Given the description of an element on the screen output the (x, y) to click on. 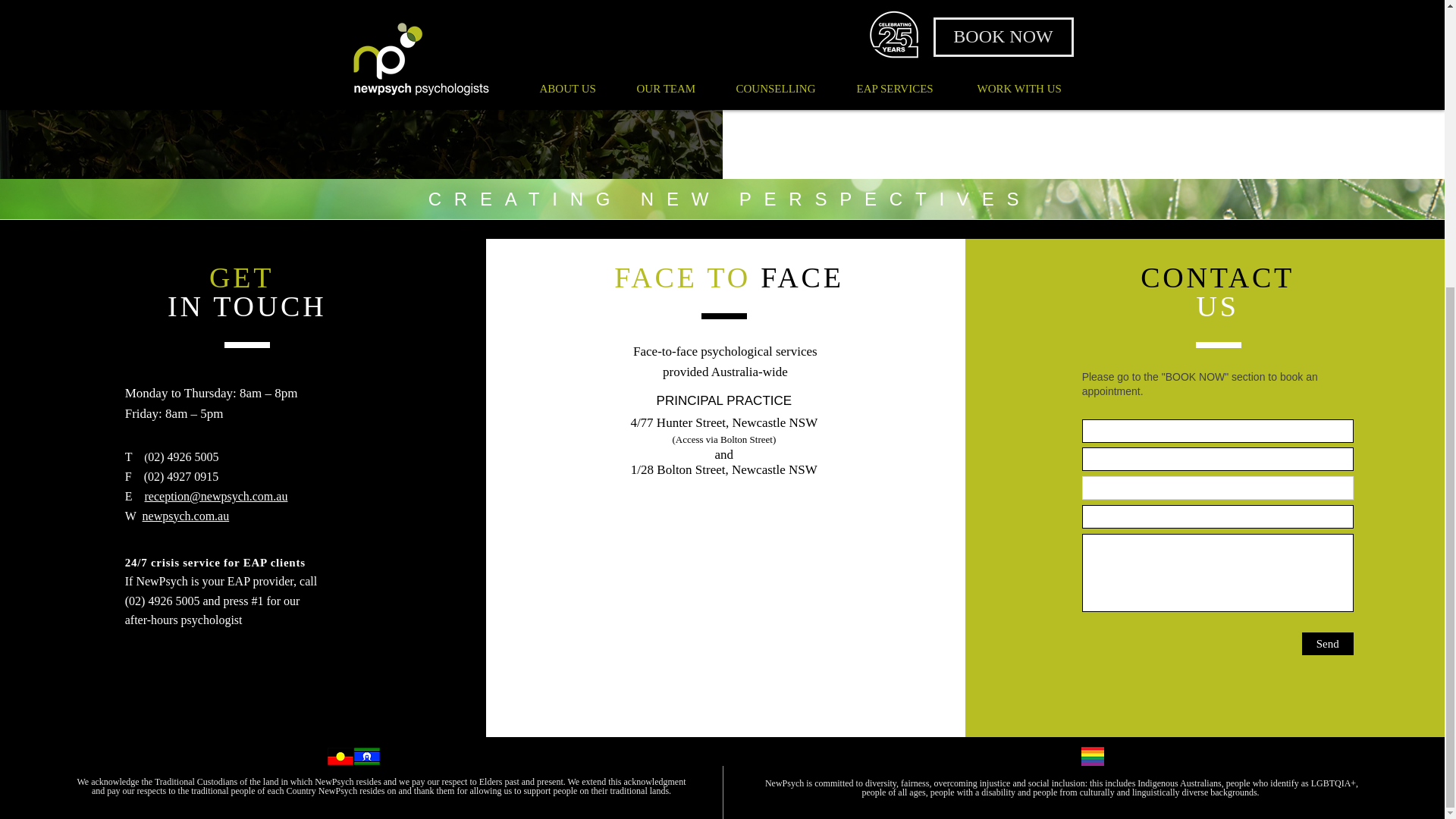
newpsych.com.au (186, 515)
Send (1327, 643)
PRINCIPAL PRACTICE (724, 400)
